Given the description of an element on the screen output the (x, y) to click on. 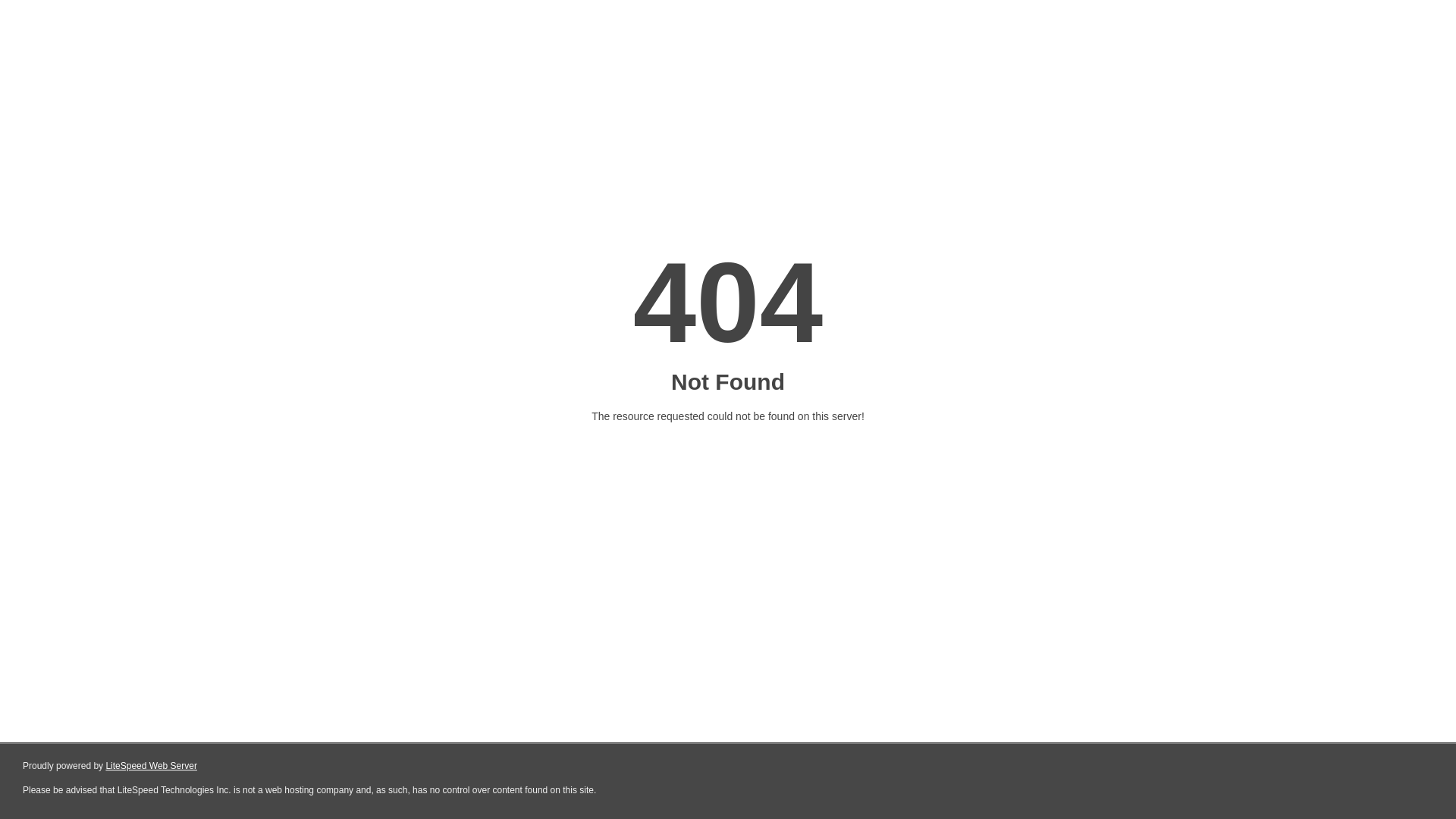
LiteSpeed Web Server Element type: text (151, 765)
